Given the description of an element on the screen output the (x, y) to click on. 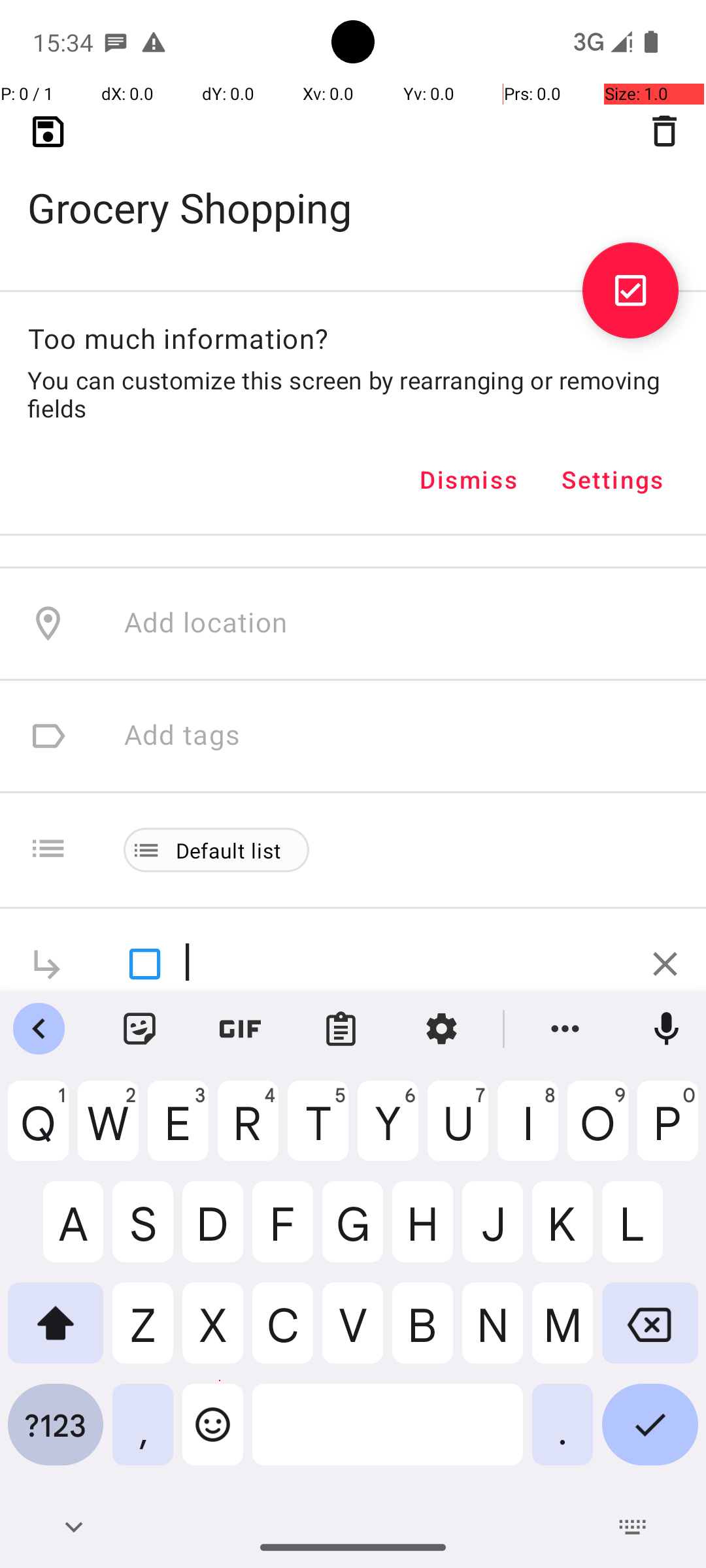
Grocery Shopping Element type: android.widget.EditText (353, 186)
Delete task Element type: android.widget.Button (664, 131)
Too much information? Element type: android.widget.TextView (178, 337)
You can customize this screen by rearranging or removing fields Element type: android.widget.TextView (352, 393)
Dismiss Element type: android.widget.TextView (468, 479)
Default list Element type: android.widget.TextView (228, 850)
Week before due 22:27 Element type: android.widget.TextView (272, 173)
Does not repeat Element type: android.widget.TextView (226, 398)
Add location Element type: android.widget.TextView (205, 623)
Add tags Element type: android.widget.TextView (182, 735)
